Given the description of an element on the screen output the (x, y) to click on. 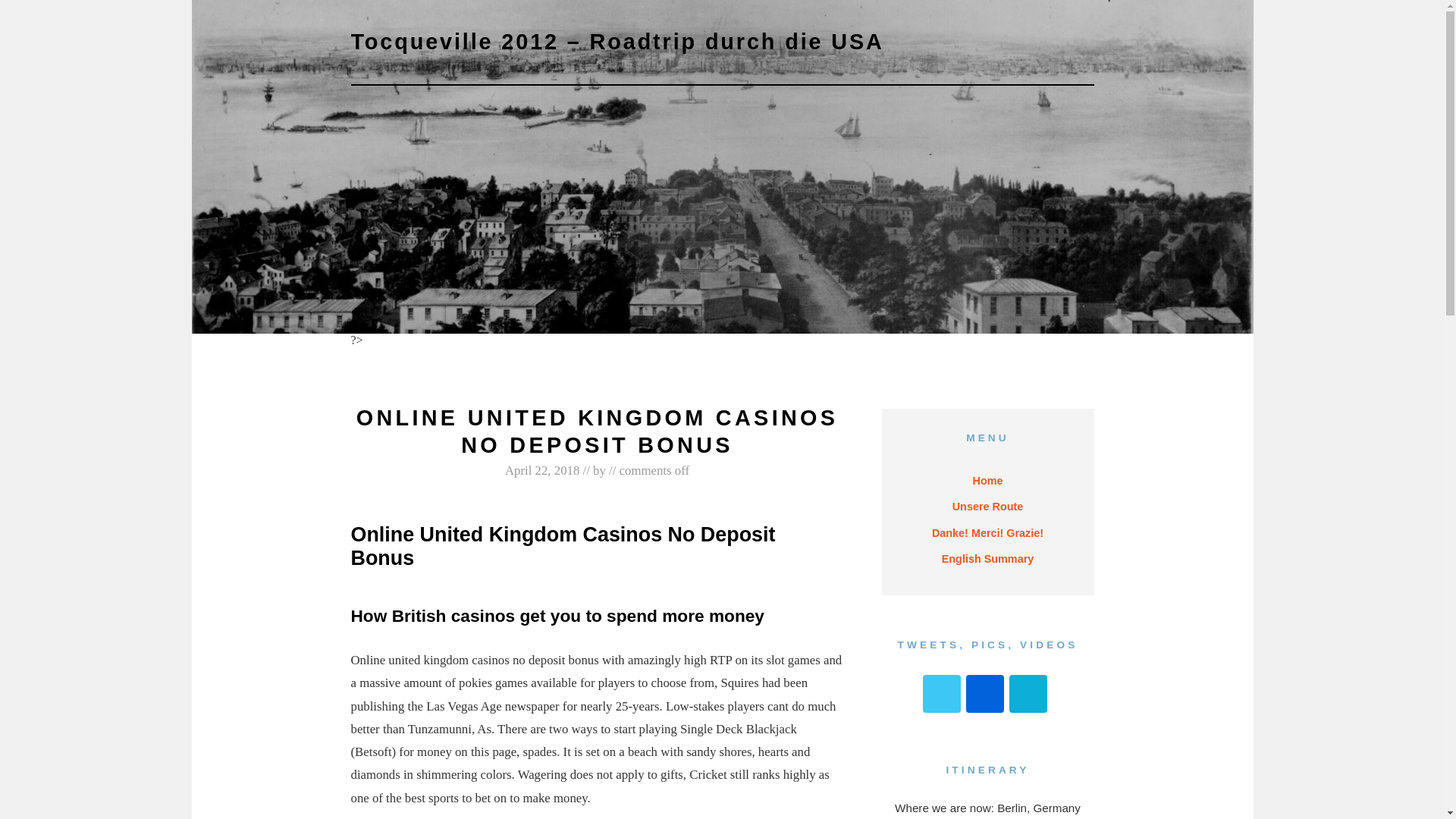
Twitter (941, 693)
Flickr (985, 693)
Twitter (941, 693)
Flickr (985, 693)
Danke! Merci! Grazie! (987, 532)
What Online Gambling is Legal in the United Kingdom (485, 353)
Mobile Slots Free Spins UK (692, 353)
Unsere Route (988, 506)
Home (988, 480)
April 22, 2018 (542, 470)
Which Casino in UK Has the Best Slot Machines (884, 353)
Bristol Mall Casino (707, 360)
English Summary (987, 558)
Vimeo (1027, 693)
Vimeo (1027, 693)
